Given the description of an element on the screen output the (x, y) to click on. 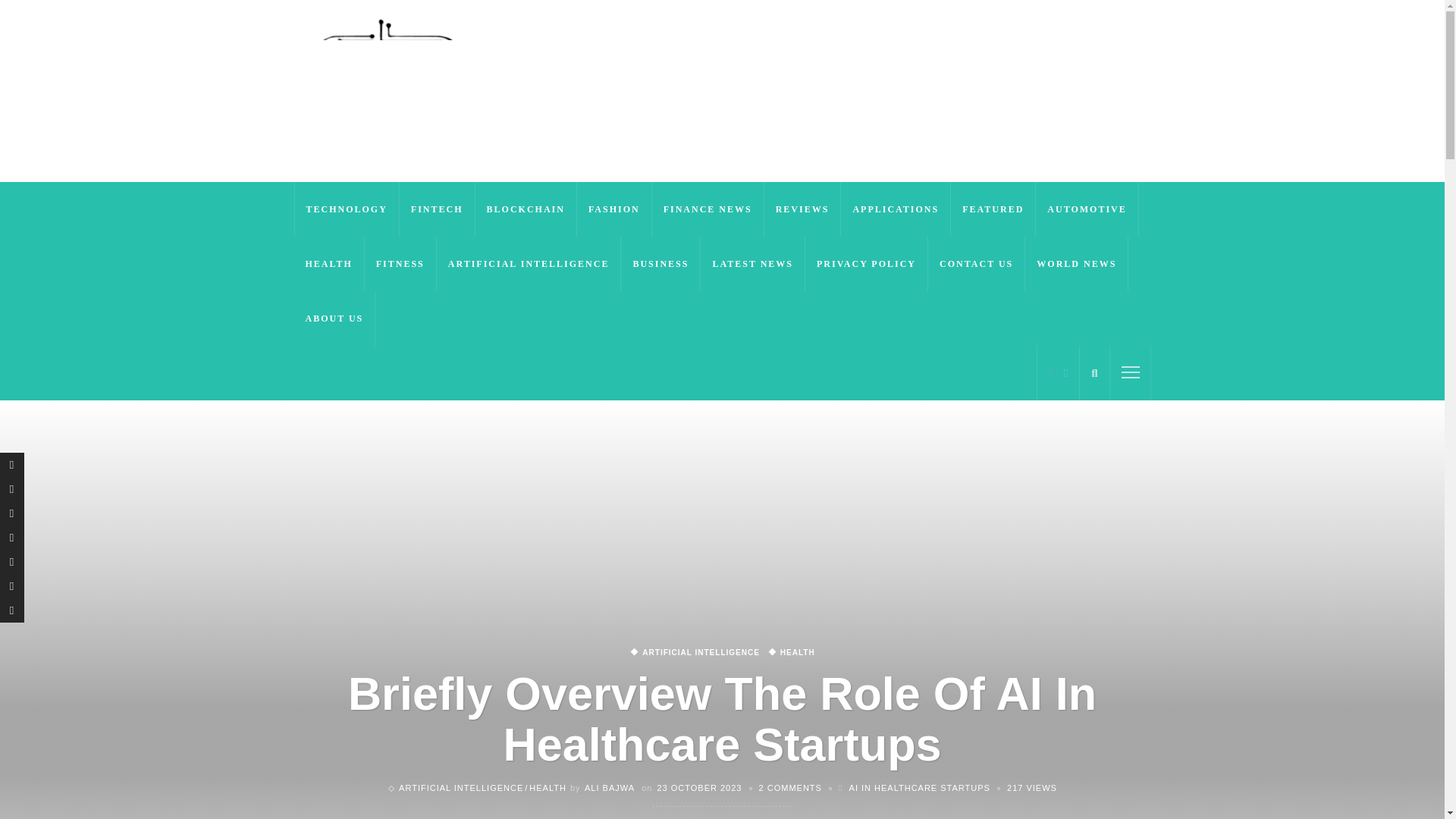
TECHNOLOGY (346, 208)
Twitter (1065, 372)
REVIEWS (802, 208)
health (791, 652)
health (544, 787)
Facebook (1050, 372)
FINTECH (437, 208)
Tech Innovator Hub (387, 90)
HEALTH (329, 263)
AUTOMOTIVE (1086, 208)
APPLICATIONS (895, 208)
Briefly overview the role of AI in healthcare startups (1032, 787)
Artificial Intelligence (460, 787)
FASHION (614, 208)
FEATURED (992, 208)
